Given the description of an element on the screen output the (x, y) to click on. 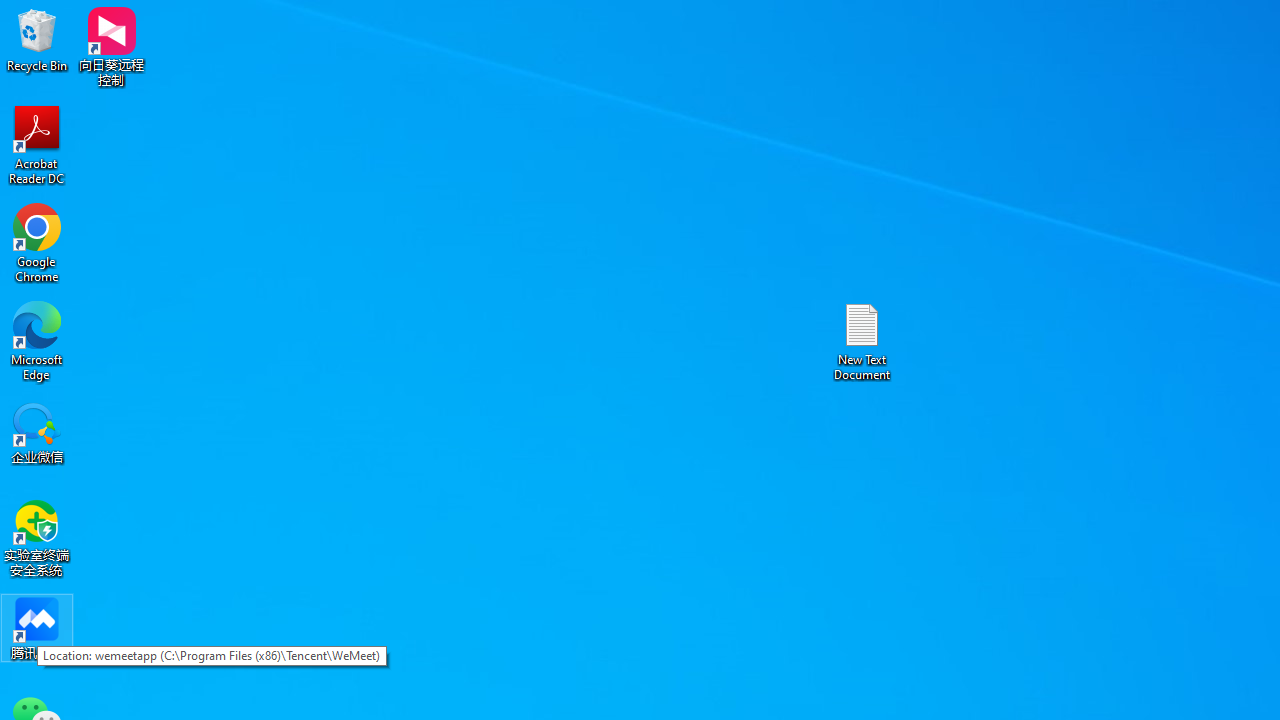
Acrobat Reader DC (37, 144)
Recycle Bin (37, 39)
Google Chrome (37, 242)
Microsoft Edge (37, 340)
New Text Document (861, 340)
